Given the description of an element on the screen output the (x, y) to click on. 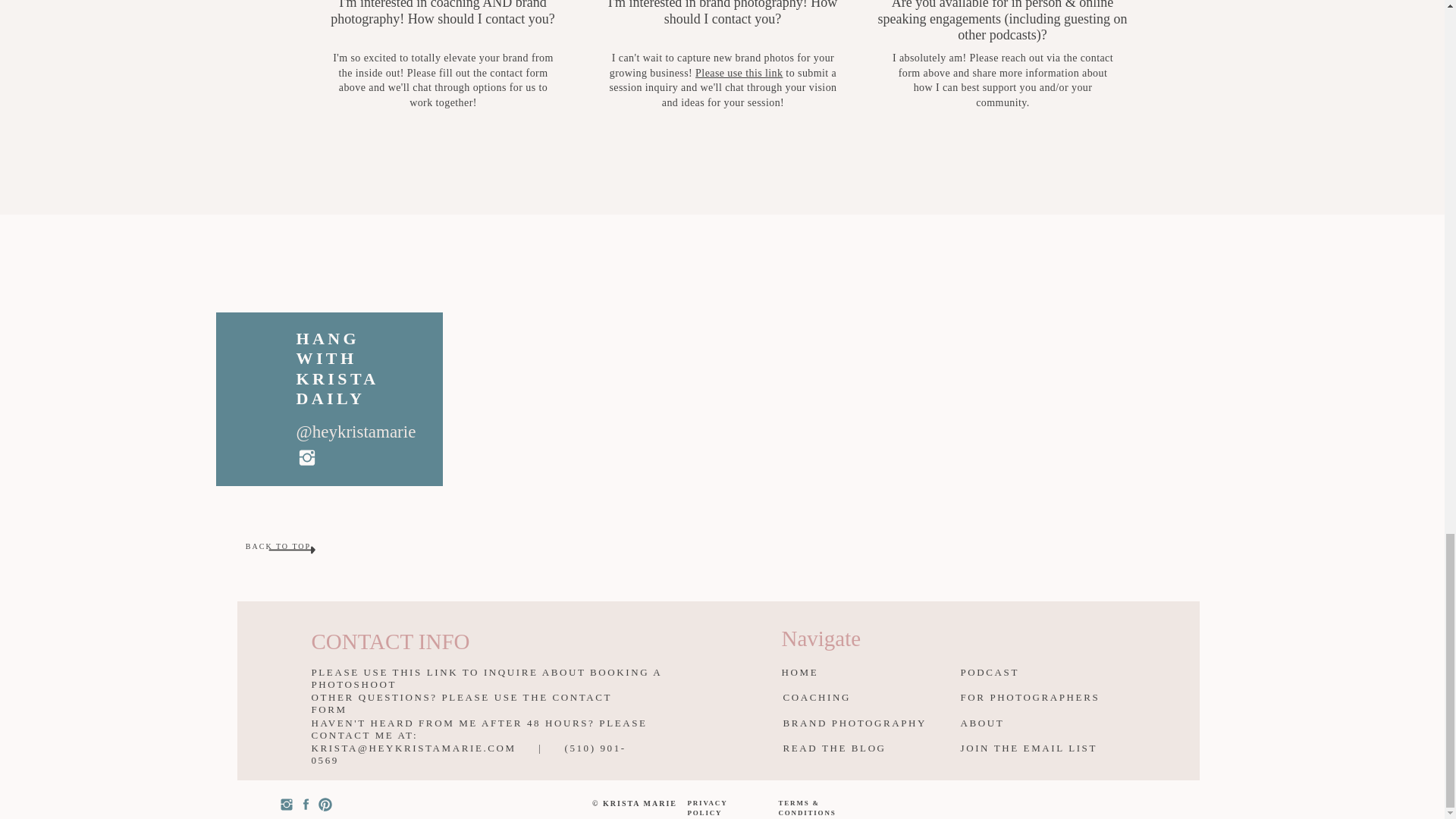
PODCAST (999, 673)
PLEASE USE THIS LINK TO INQUIRE ABOUT BOOKING A PHOTOSHOOT (509, 672)
JOIN THE EMAIL LIST (1034, 749)
HOME (820, 673)
BRAND PHOTOGRAPHY (857, 724)
Please use this link (739, 72)
READ THE BLOG (857, 749)
BACK TO TOP (278, 548)
ABOUT (999, 724)
FOR PHOTOGRAPHERS (1032, 698)
